Given the description of an element on the screen output the (x, y) to click on. 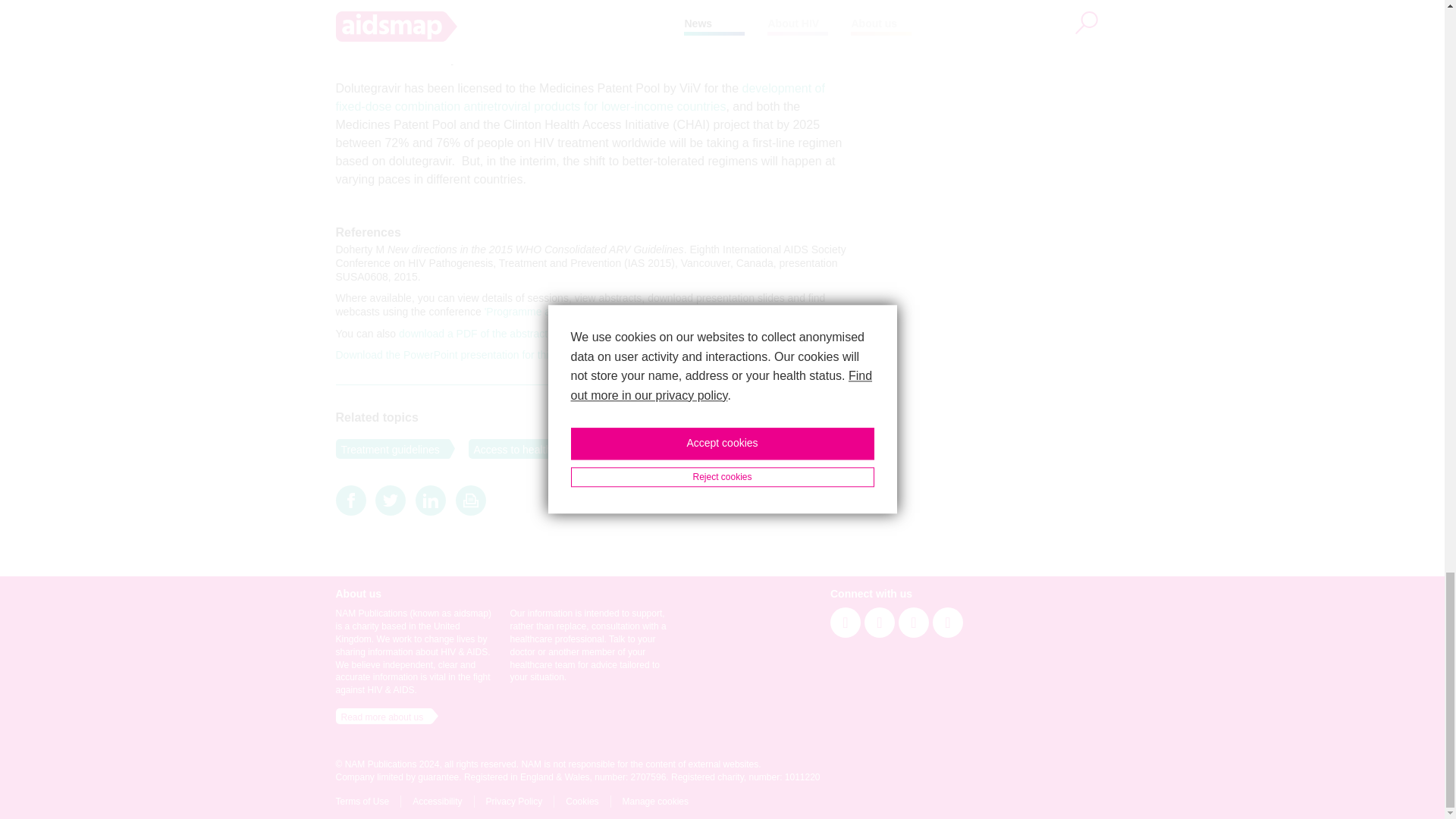
Facebook (349, 500)
Treatment guidelines (386, 448)
LinkedIn (429, 500)
'Programme at a Glance' tool (552, 311)
Twitter (390, 500)
download a PDF of the abstract book (485, 333)
Access to healthcare (520, 448)
Download the PowerPoint presentation for this session (463, 354)
Print (470, 500)
